Given the description of an element on the screen output the (x, y) to click on. 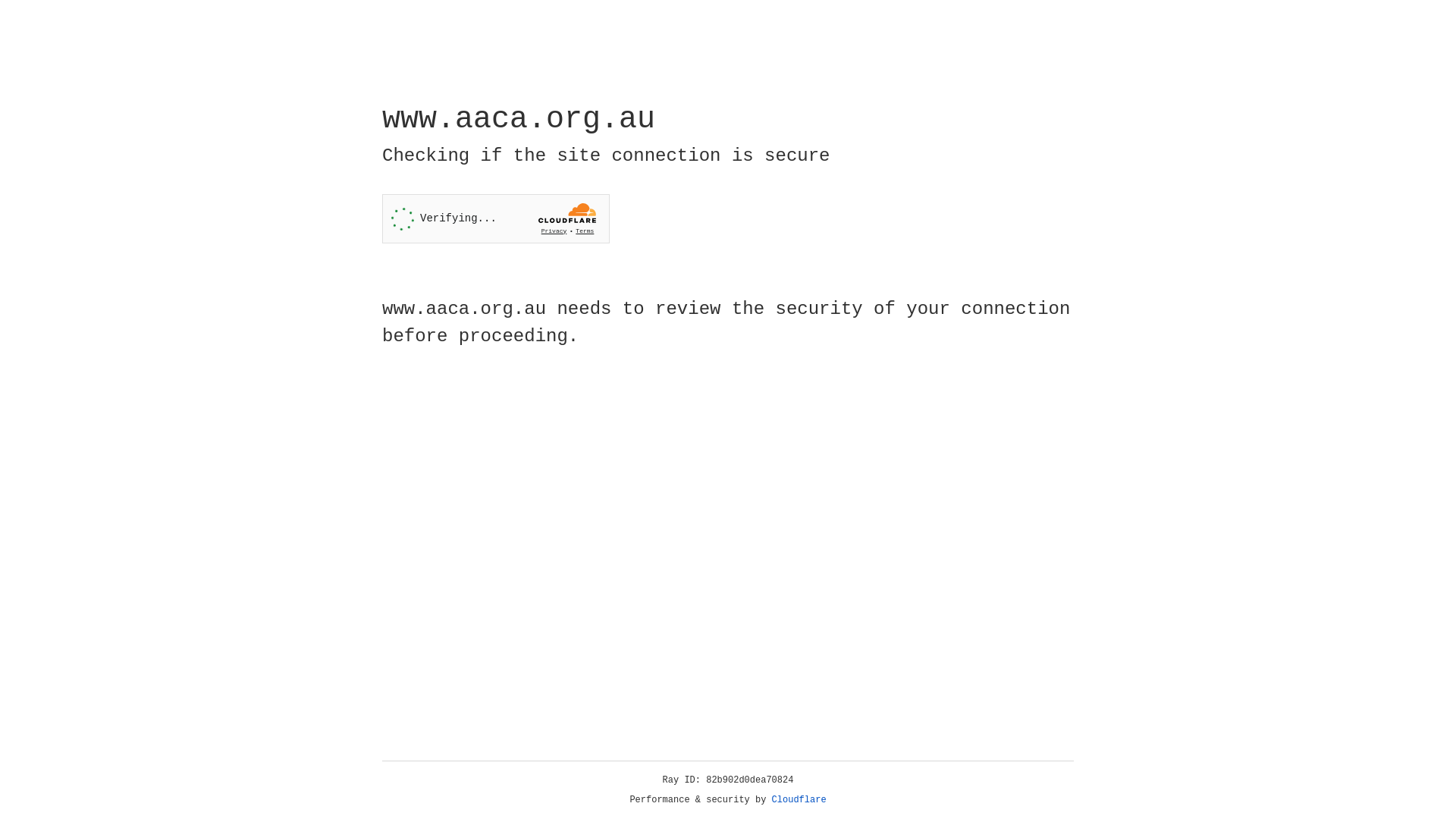
Cloudflare Element type: text (798, 799)
Widget containing a Cloudflare security challenge Element type: hover (495, 218)
